Given the description of an element on the screen output the (x, y) to click on. 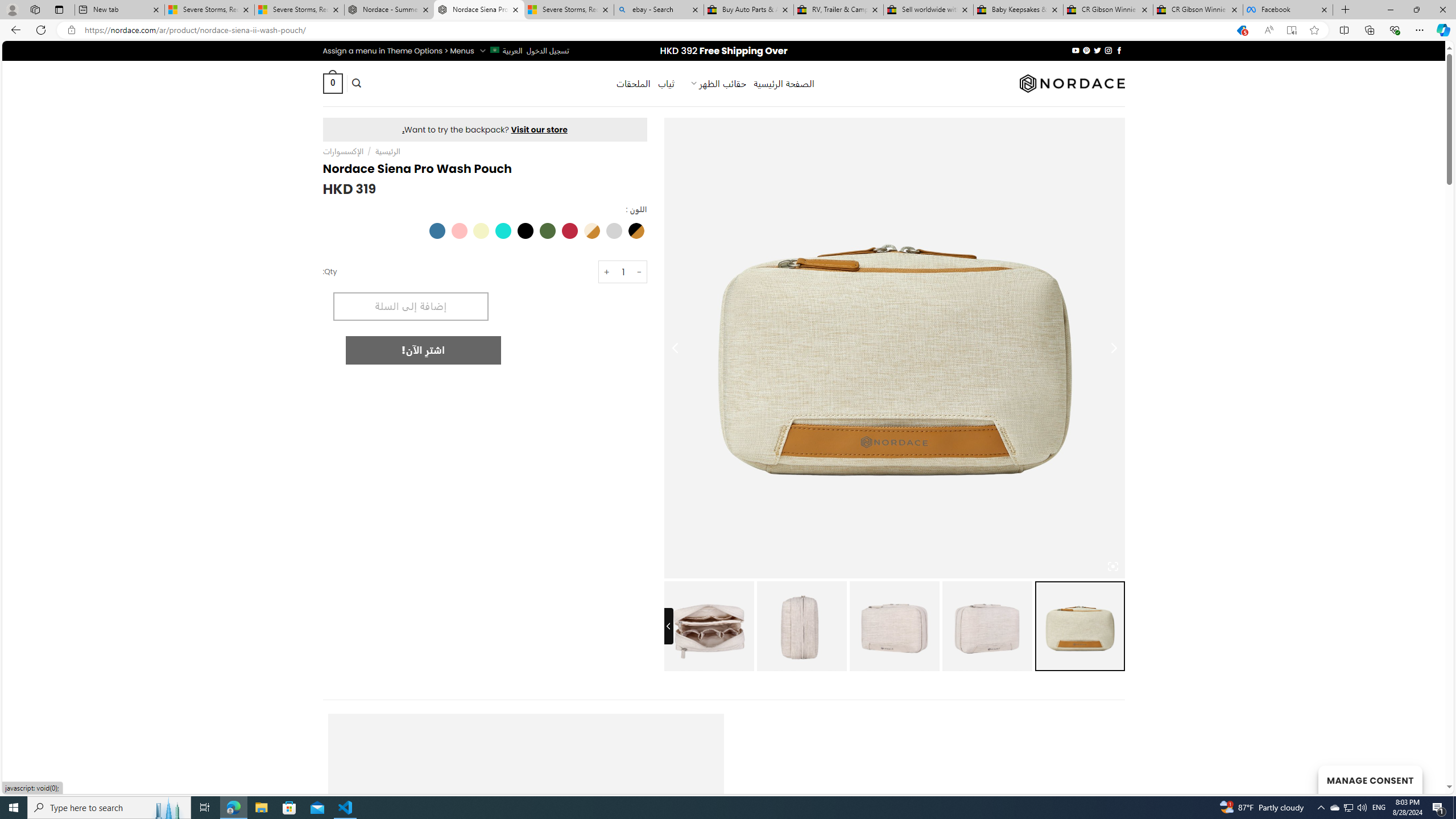
Visit our store. (484, 129)
Enter Immersive Reader (F9) (1291, 29)
